Given the description of an element on the screen output the (x, y) to click on. 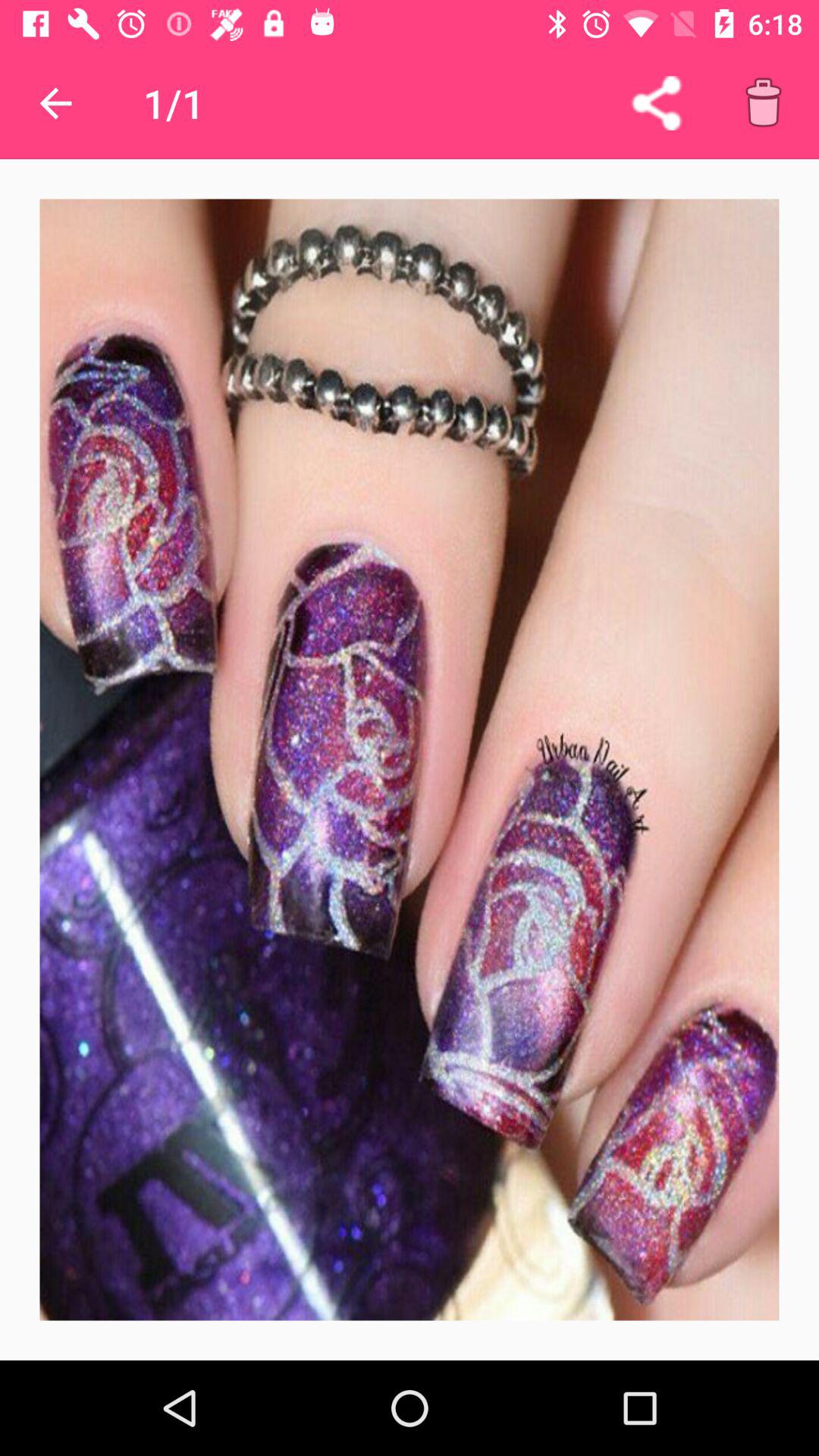
share options (656, 103)
